Given the description of an element on the screen output the (x, y) to click on. 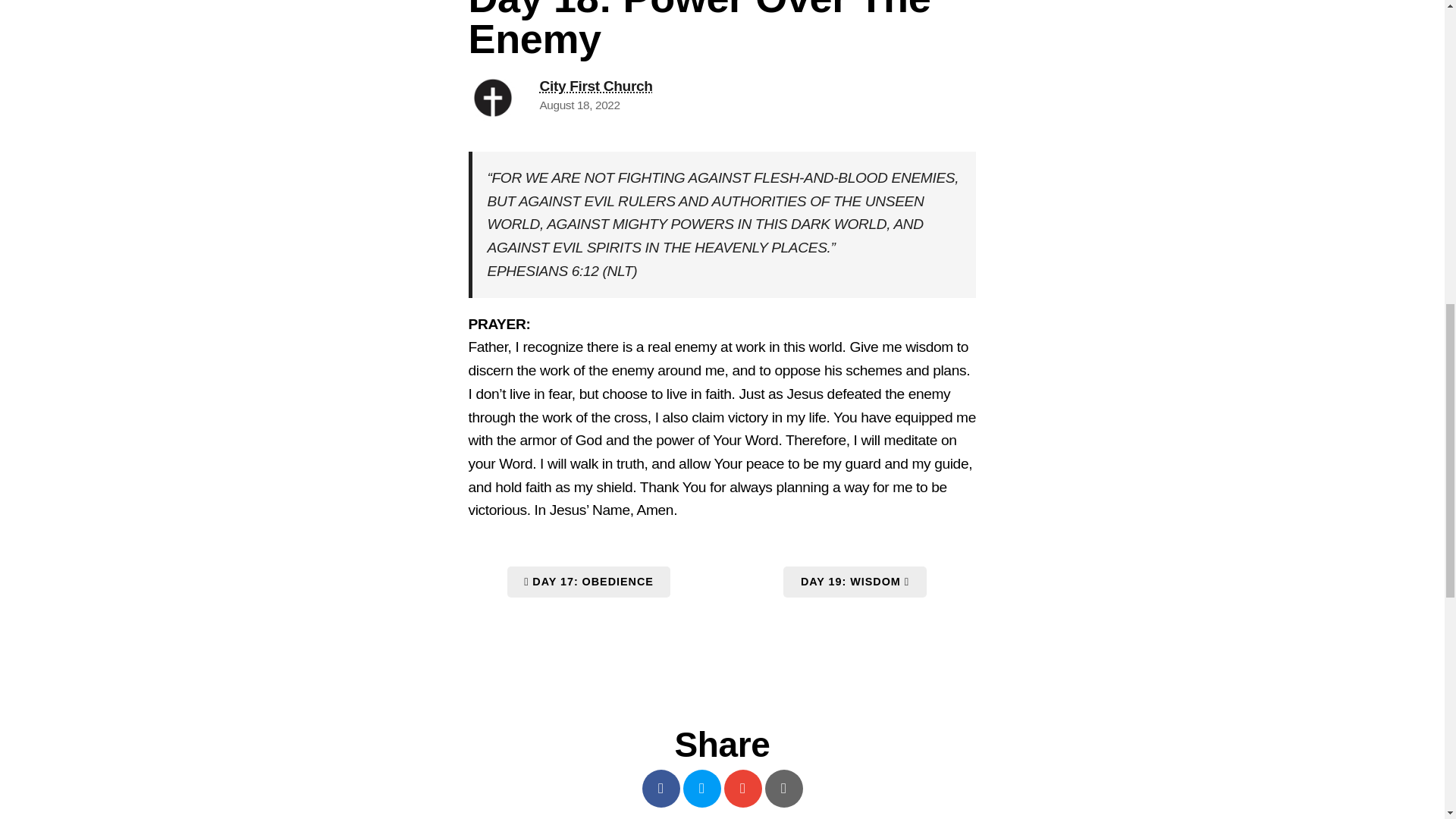
Posts by City First Church (596, 85)
